Given the description of an element on the screen output the (x, y) to click on. 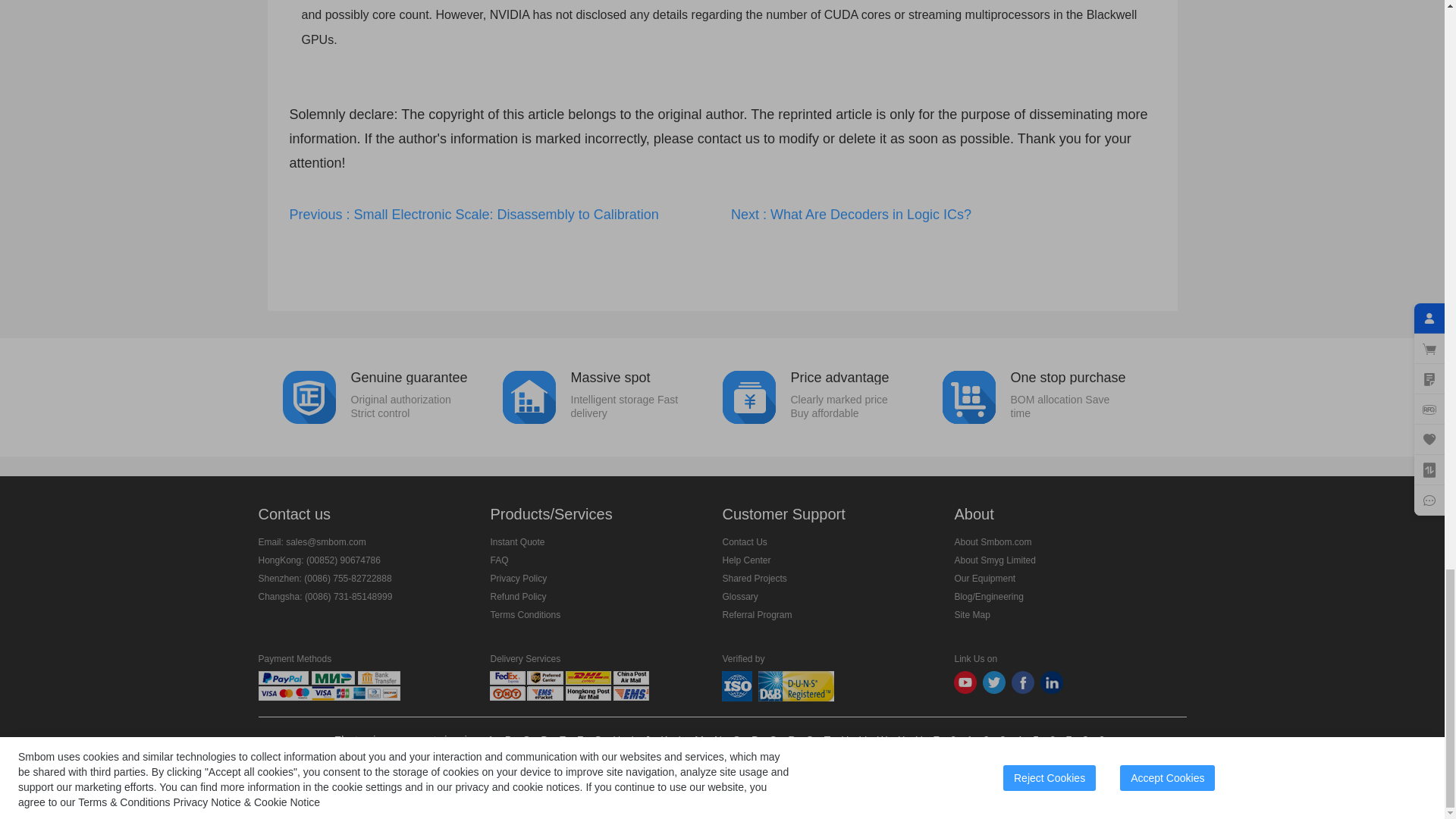
Instant Quote (516, 542)
Terms Conditions (524, 614)
Next : What Are Decoders in Logic ICs? (943, 214)
About Smyg Limited (994, 560)
FAQ (498, 560)
Help Center (1051, 395)
Privacy Policy (746, 560)
Referral Program (518, 578)
Refund Policy (757, 614)
